Given the description of an element on the screen output the (x, y) to click on. 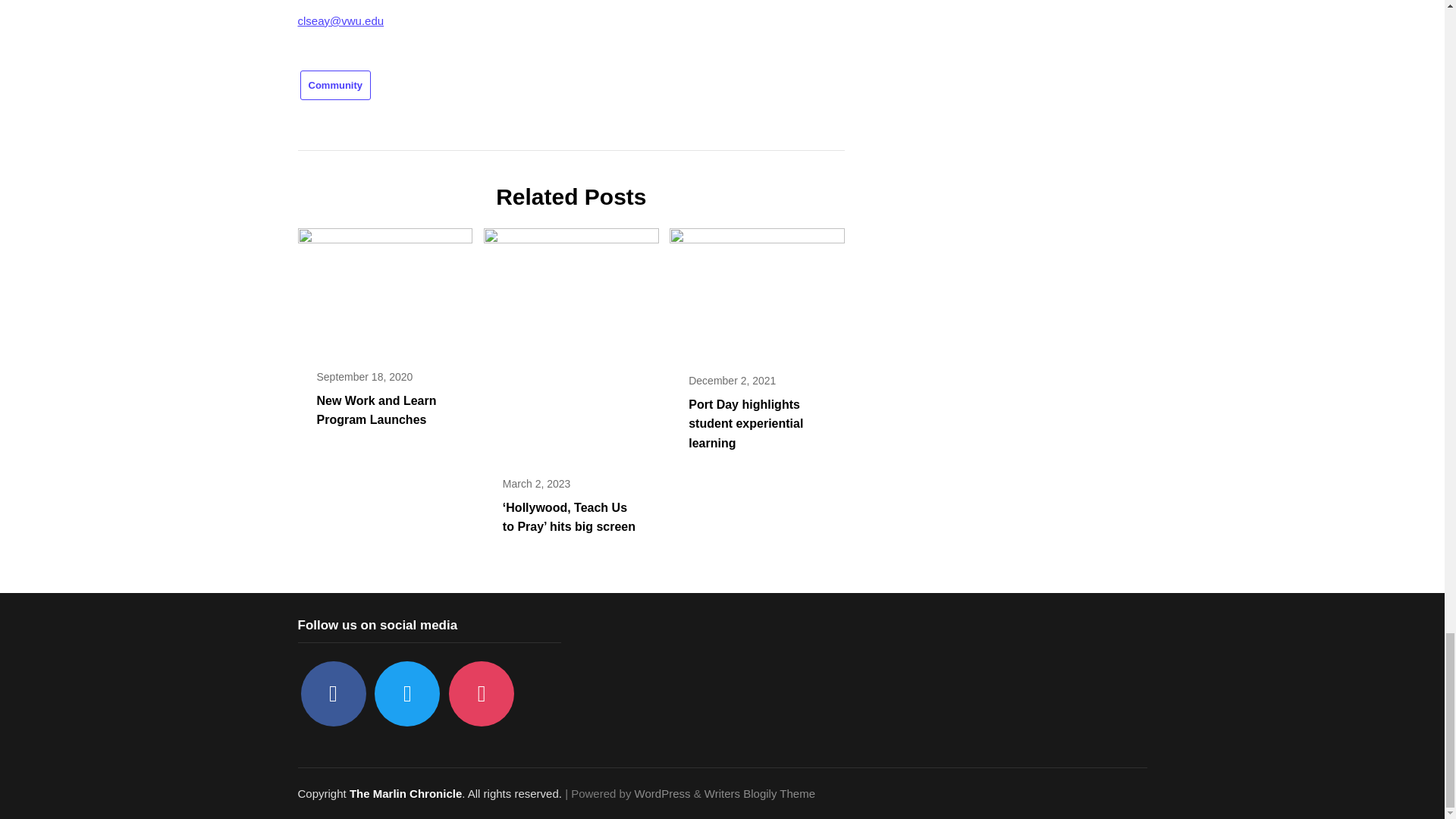
Facebook (332, 693)
Community (335, 84)
Port Day highlights student experiential learning (756, 288)
New Work and Learn Program Launches (376, 409)
Twitter (406, 693)
Instagram (480, 693)
New Work and Learn Program Launches (384, 286)
Port Day highlights student experiential learning (745, 423)
